Given the description of an element on the screen output the (x, y) to click on. 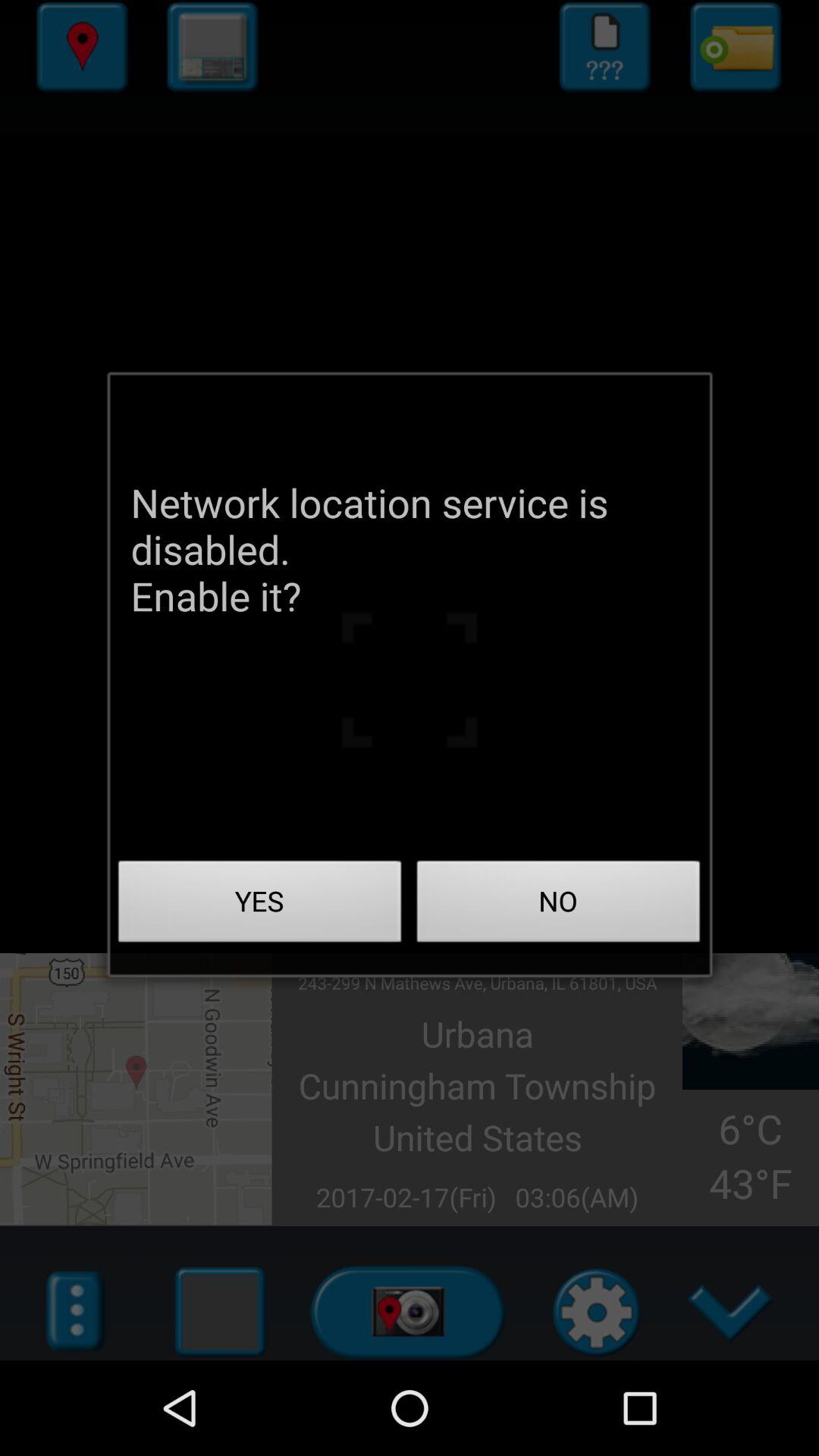
jump until the yes item (259, 905)
